Given the description of an element on the screen output the (x, y) to click on. 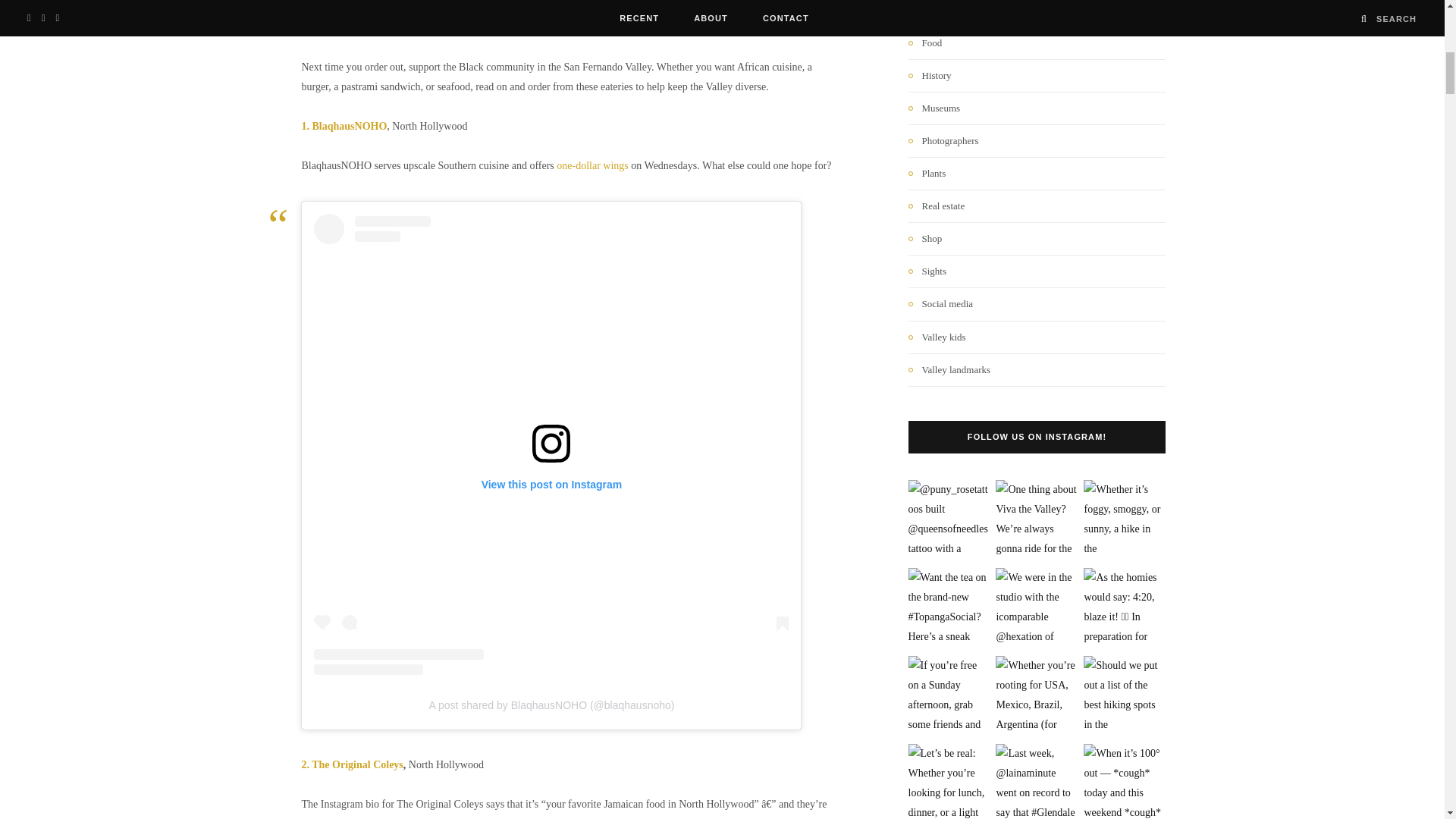
1. BlaqhausNOHO (344, 125)
one-dollar wings (591, 165)
2. The Original Coleys (352, 764)
20 Black-Owned Valley Eateries to Support Now and Always (571, 15)
